Given the description of an element on the screen output the (x, y) to click on. 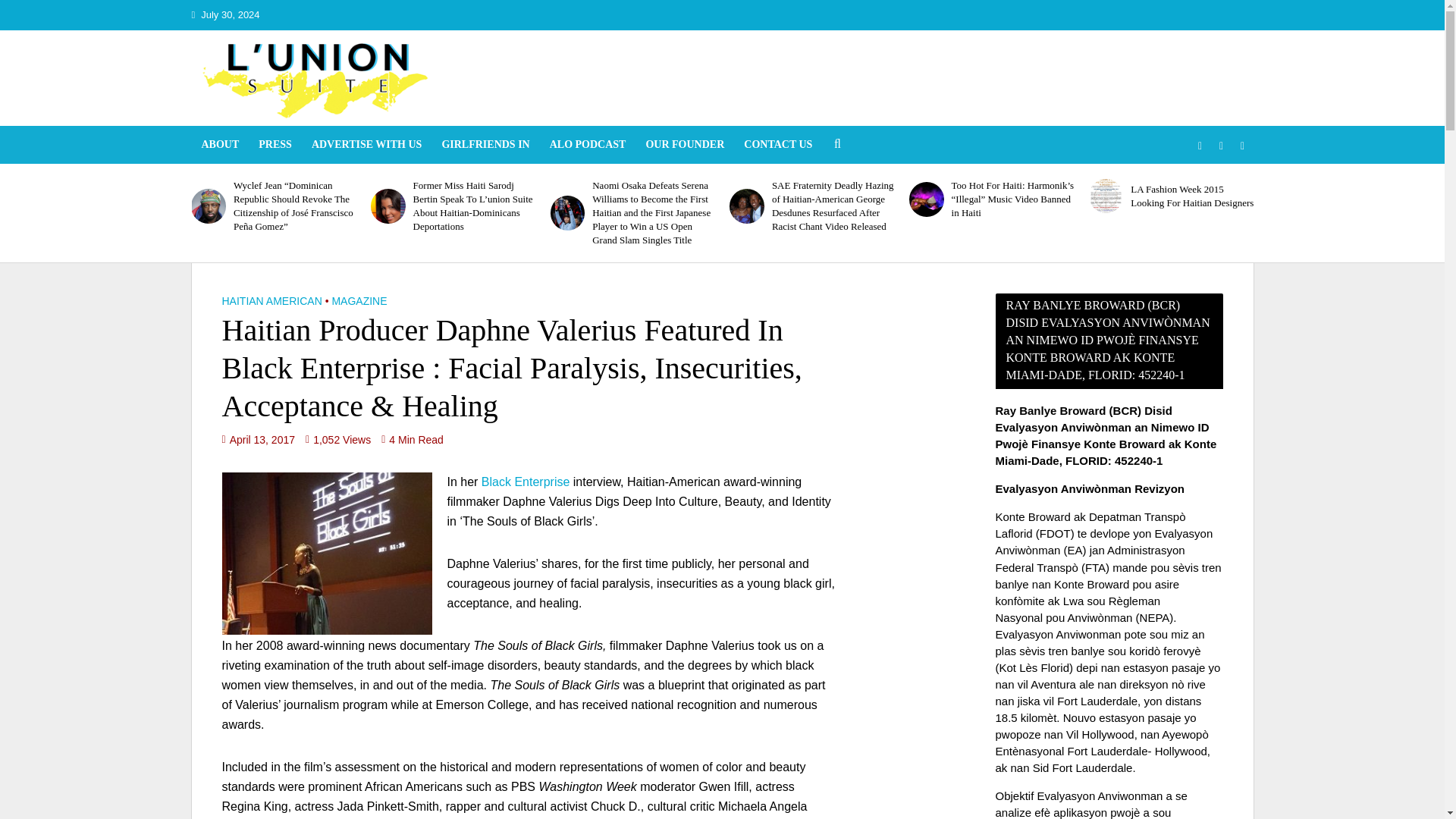
LA Fashion Week 2015 Looking For Haitian Designers (1192, 195)
PRESS (274, 144)
GIRLFRIENDS IN (484, 144)
OUR FOUNDER (683, 144)
CONTACT US (777, 144)
ALO PODCAST (588, 144)
LA Fashion Week 2015 Looking For Haitian Designers (1105, 195)
ADVERTISE WITH US (366, 144)
ABOUT (219, 144)
